Given the description of an element on the screen output the (x, y) to click on. 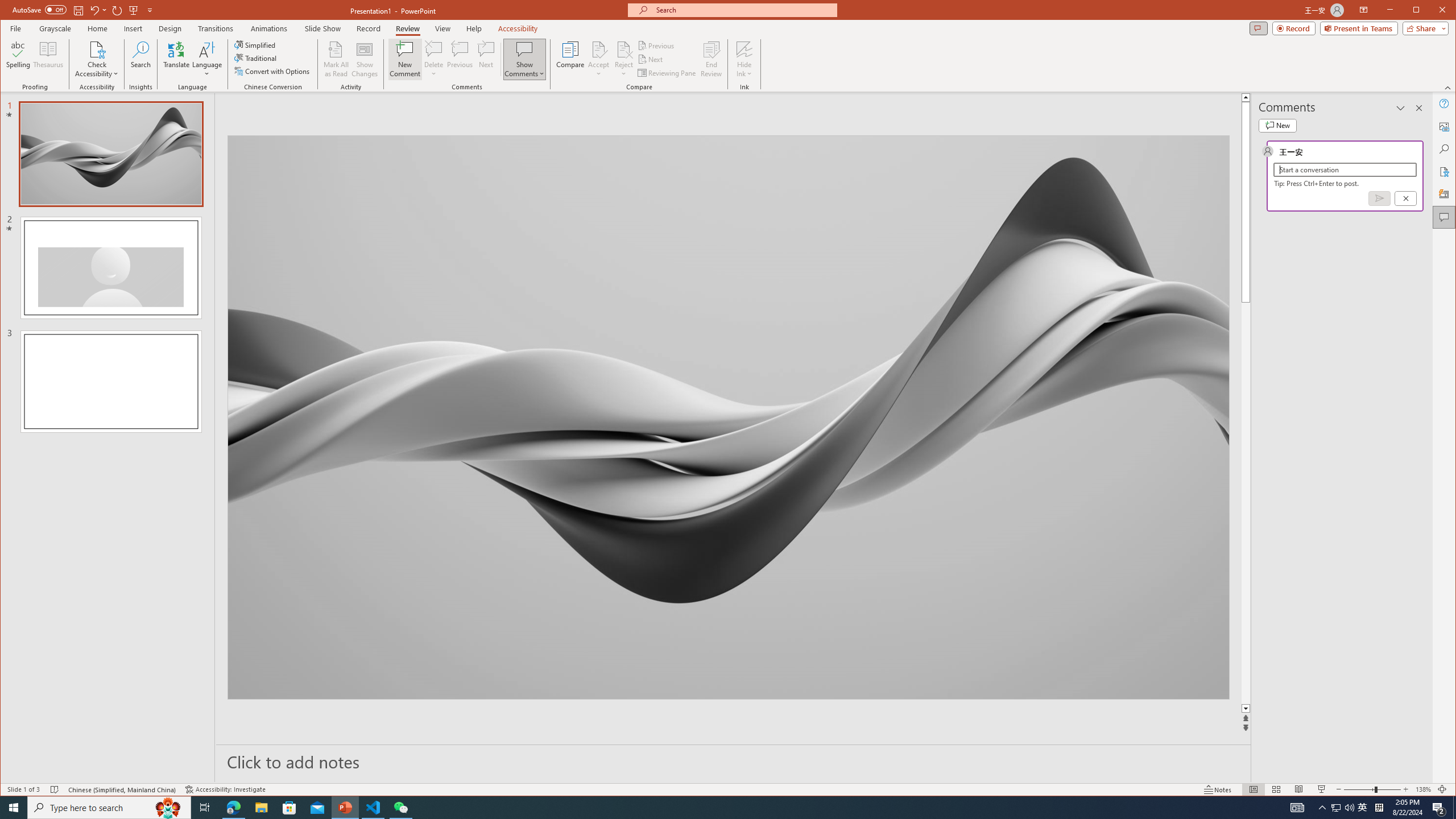
Mark All as Read (335, 59)
Reject (623, 59)
Next (651, 59)
Convert with Options... (272, 70)
